Given the description of an element on the screen output the (x, y) to click on. 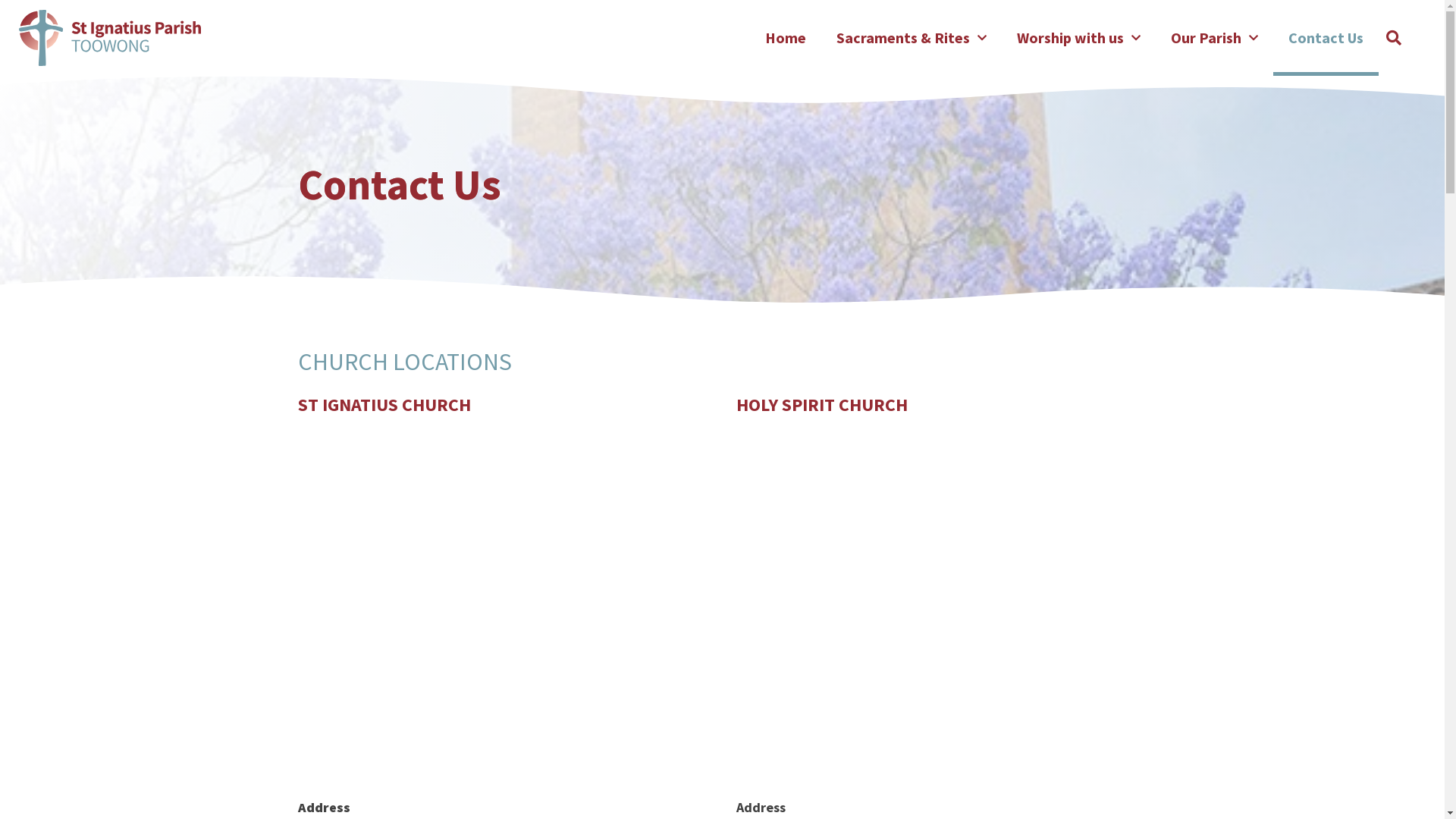
Sacraments & Rites Element type: text (911, 37)
Contact Us Element type: text (1325, 37)
Worship with us Element type: text (1078, 37)
Home Element type: text (785, 37)
Our Parish Element type: text (1214, 37)
